Given the description of an element on the screen output the (x, y) to click on. 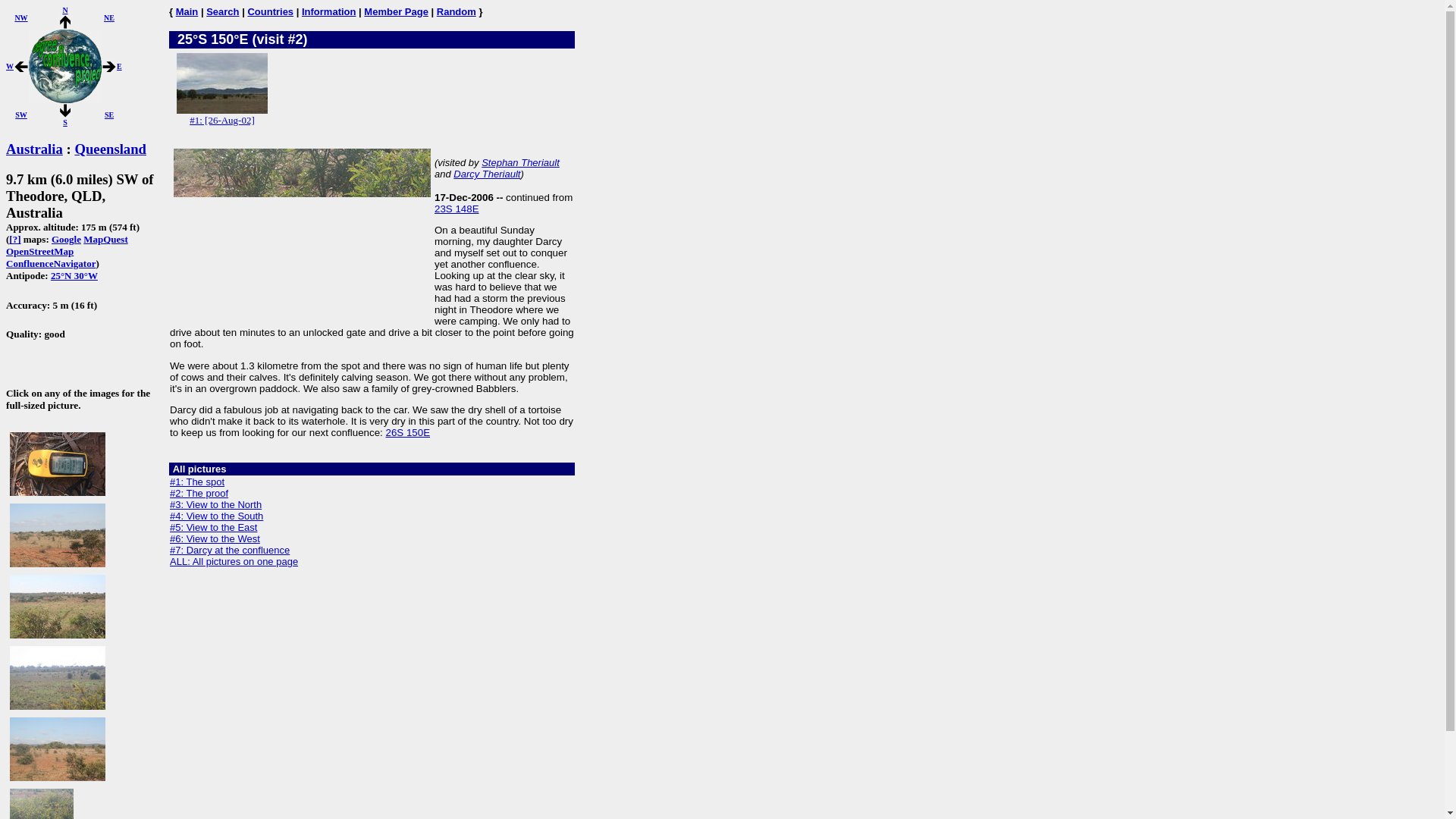
S (65, 110)
The confluence opposite this confluence on the globe (73, 275)
W (9, 66)
23S 148E (456, 208)
Stephan Theriault (520, 162)
Main (187, 11)
E (119, 66)
W (21, 66)
Random (456, 11)
Google (65, 238)
OpenStreetMap (39, 251)
N (64, 9)
Queensland (110, 148)
Countries (270, 11)
Search (222, 11)
